Given the description of an element on the screen output the (x, y) to click on. 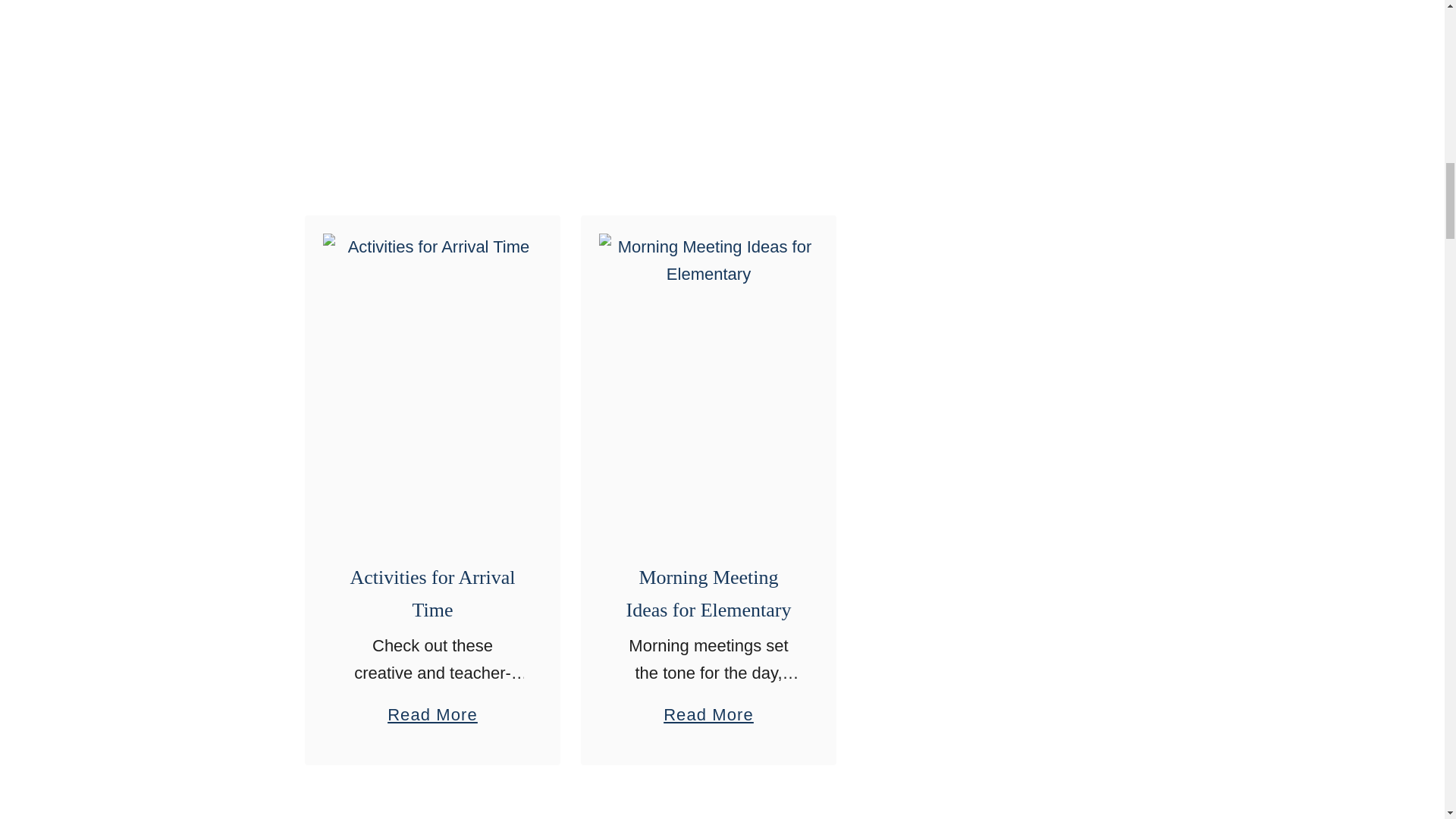
Activities for Arrival Time (432, 592)
Morning Meeting Ideas for Elementary (708, 592)
